Given the description of an element on the screen output the (x, y) to click on. 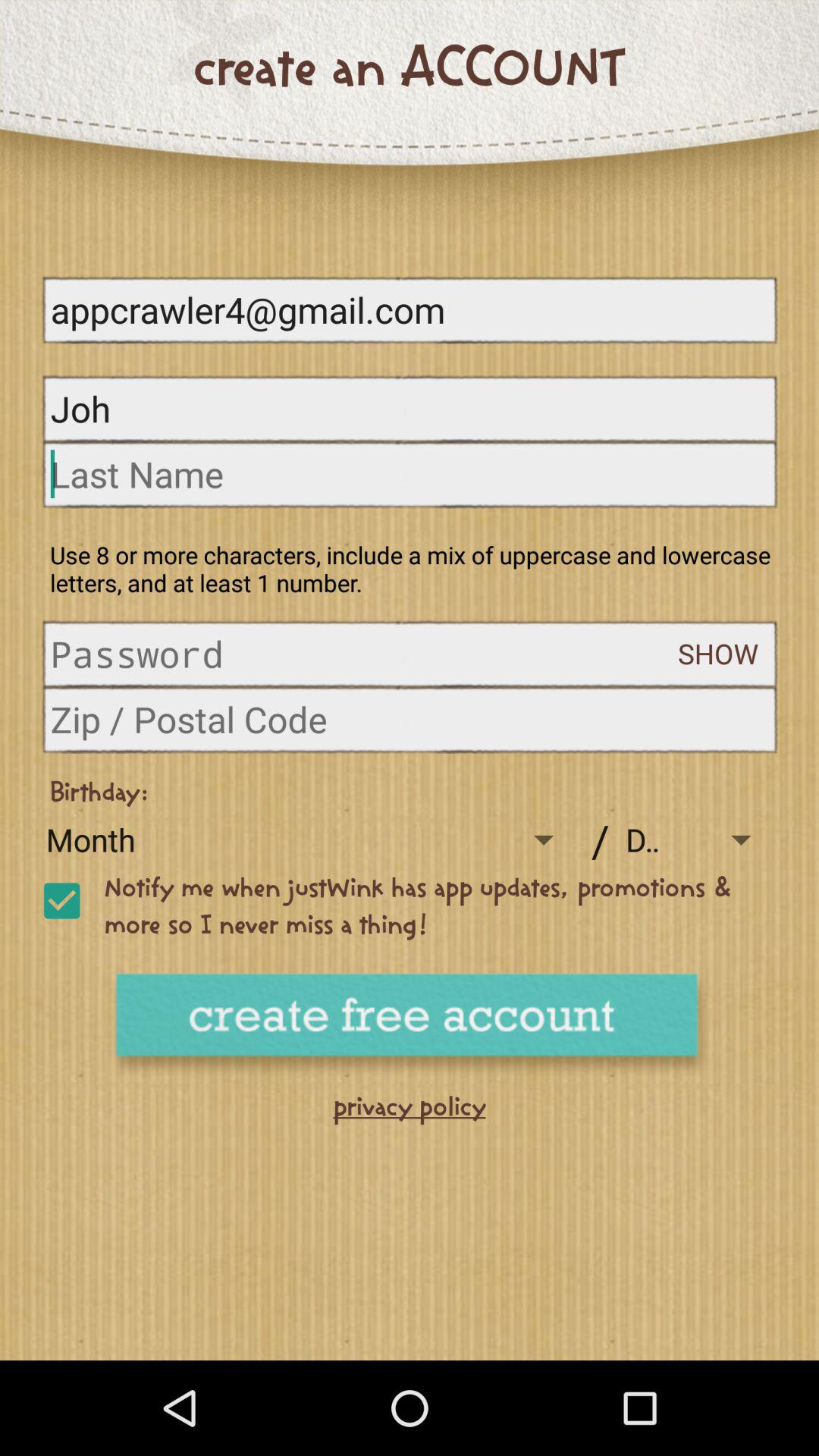
create an account button (409, 1025)
